Given the description of an element on the screen output the (x, y) to click on. 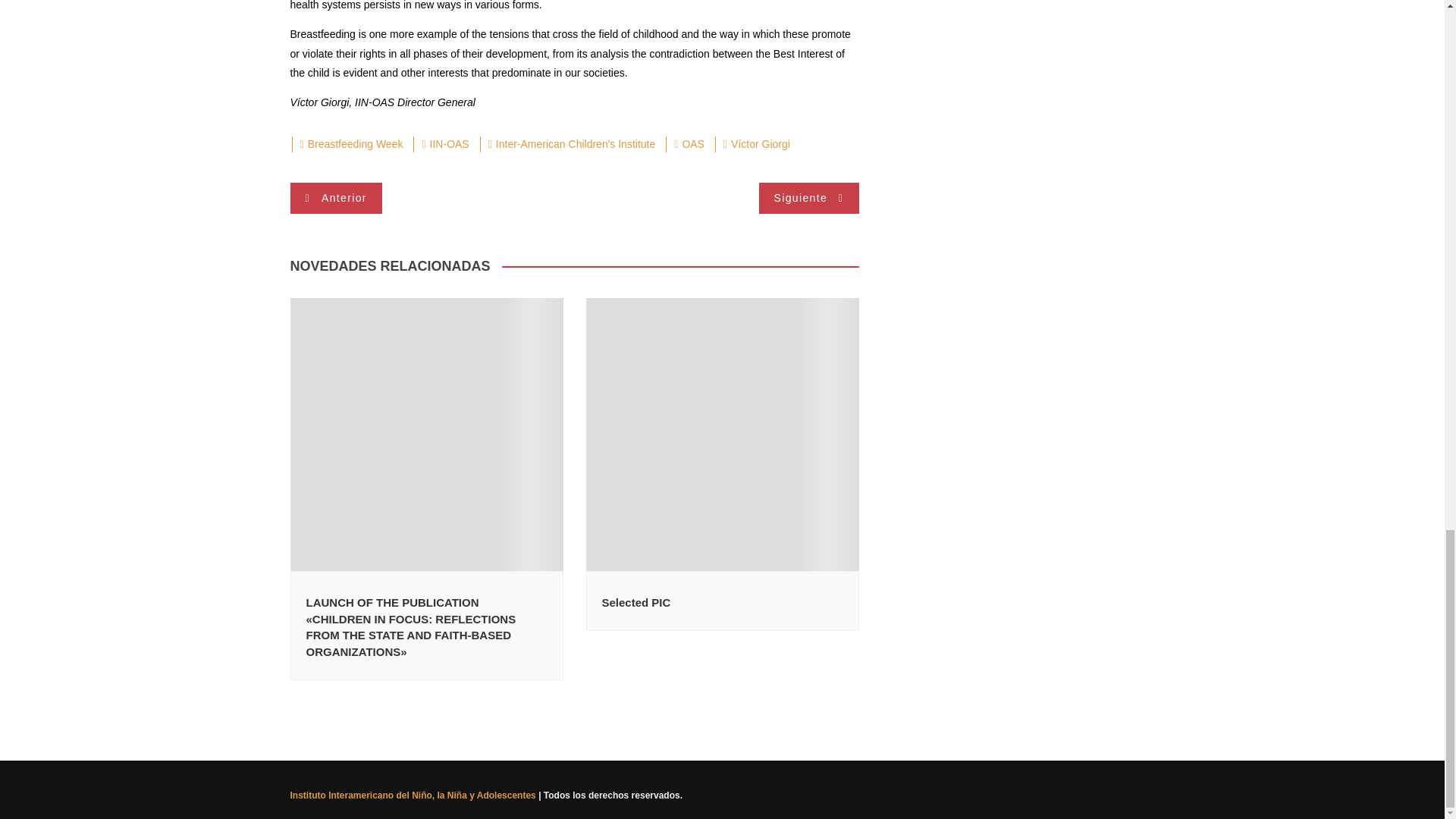
Inter-American Children'S Institute (571, 144)
Siguiente (808, 197)
Breastfeeding Week (350, 144)
OAS (688, 144)
IIN-OAS (444, 144)
Selected PIC (636, 602)
Anterior (335, 197)
